Given the description of an element on the screen output the (x, y) to click on. 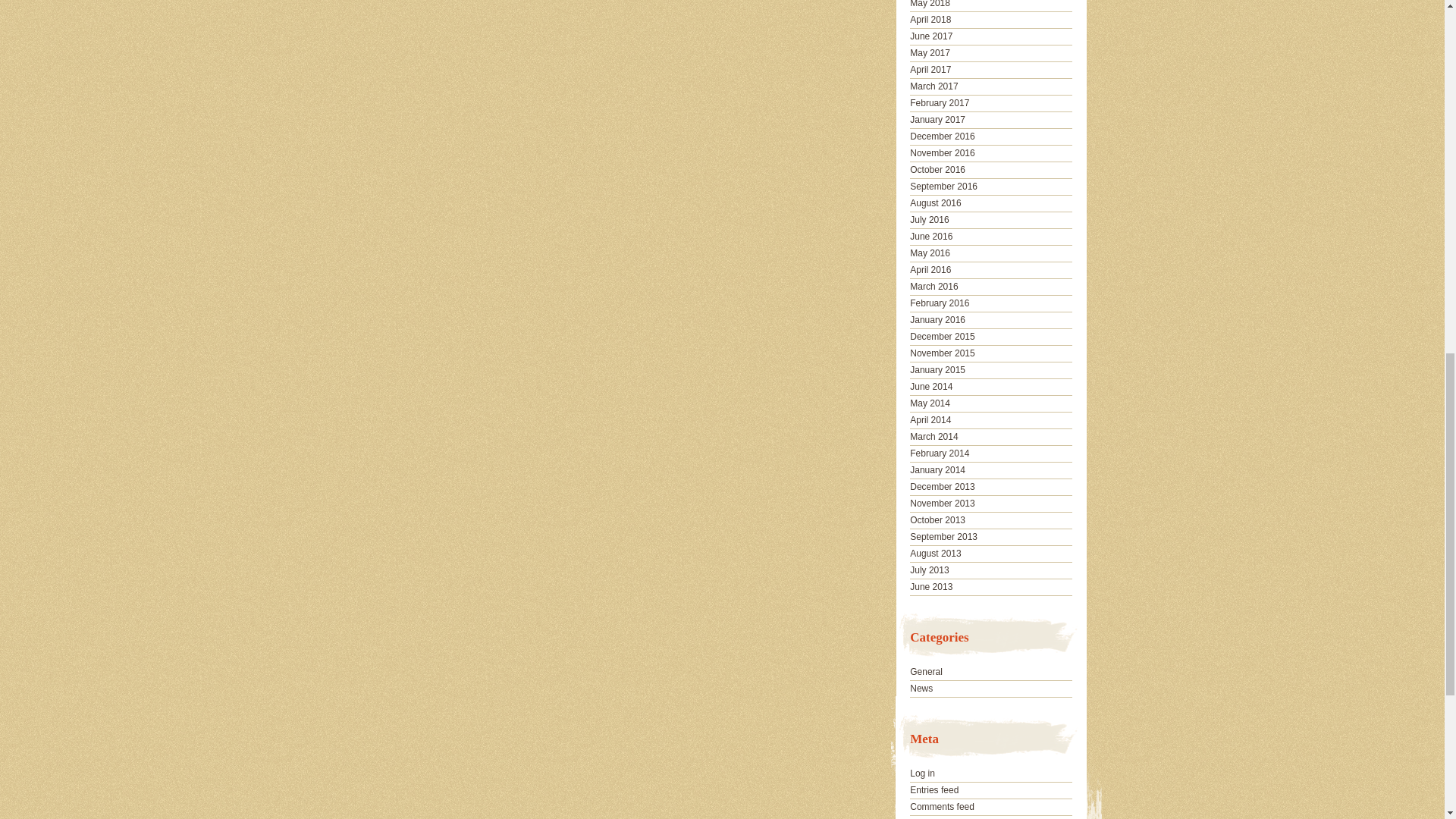
January 2017 (937, 119)
May 2017 (930, 52)
November 2016 (942, 153)
February 2017 (939, 102)
June 2016 (931, 235)
September 2016 (943, 185)
August 2016 (935, 203)
March 2017 (934, 86)
May 2018 (930, 4)
December 2016 (942, 136)
July 2016 (929, 219)
April 2018 (930, 19)
June 2017 (931, 36)
April 2017 (930, 69)
October 2016 (937, 169)
